Given the description of an element on the screen output the (x, y) to click on. 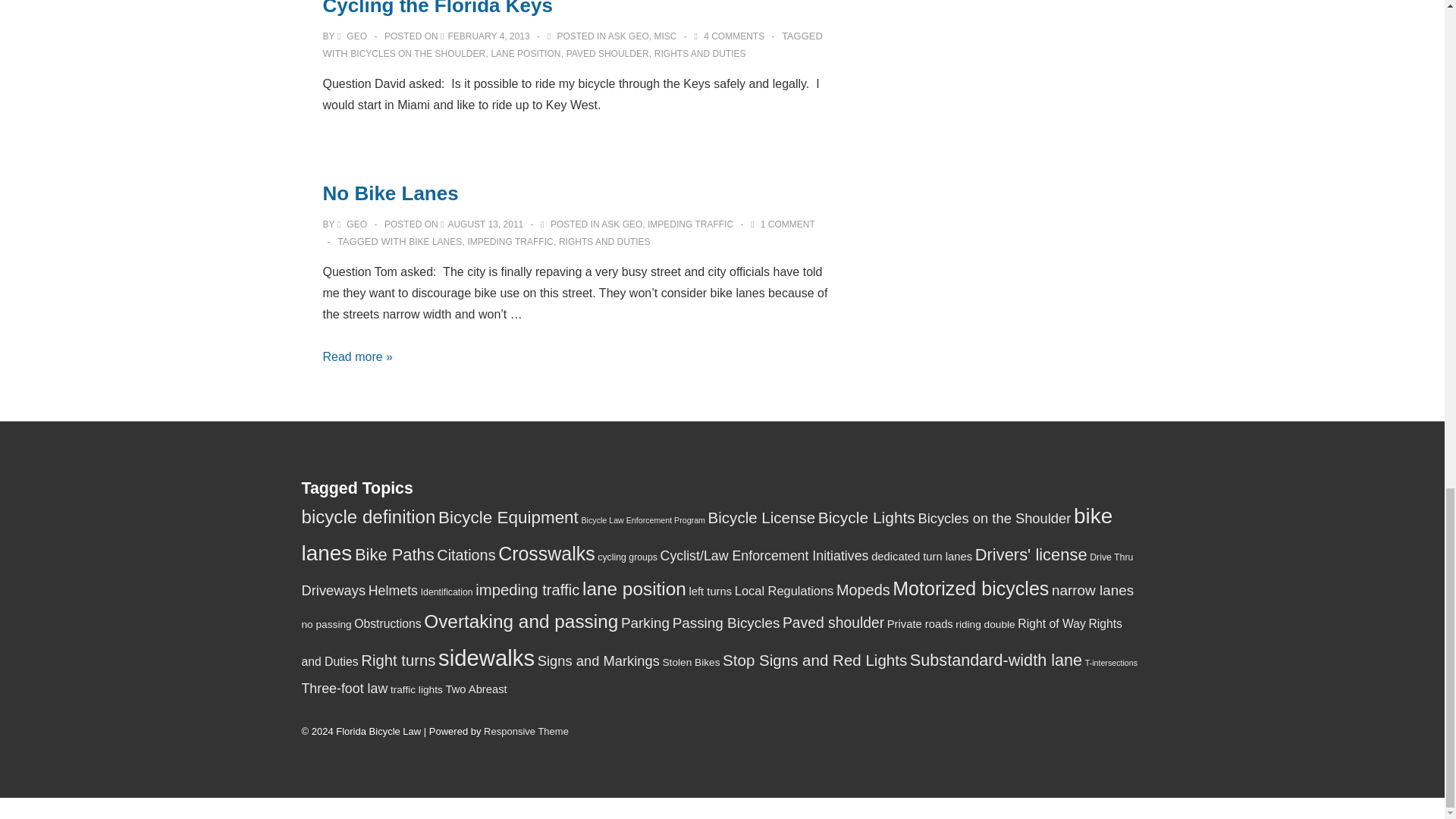
No Bike Lanes (484, 224)
Cycling the Florida Keys (487, 36)
View all posts by Geo (353, 224)
View all posts by Geo (353, 36)
